Given the description of an element on the screen output the (x, y) to click on. 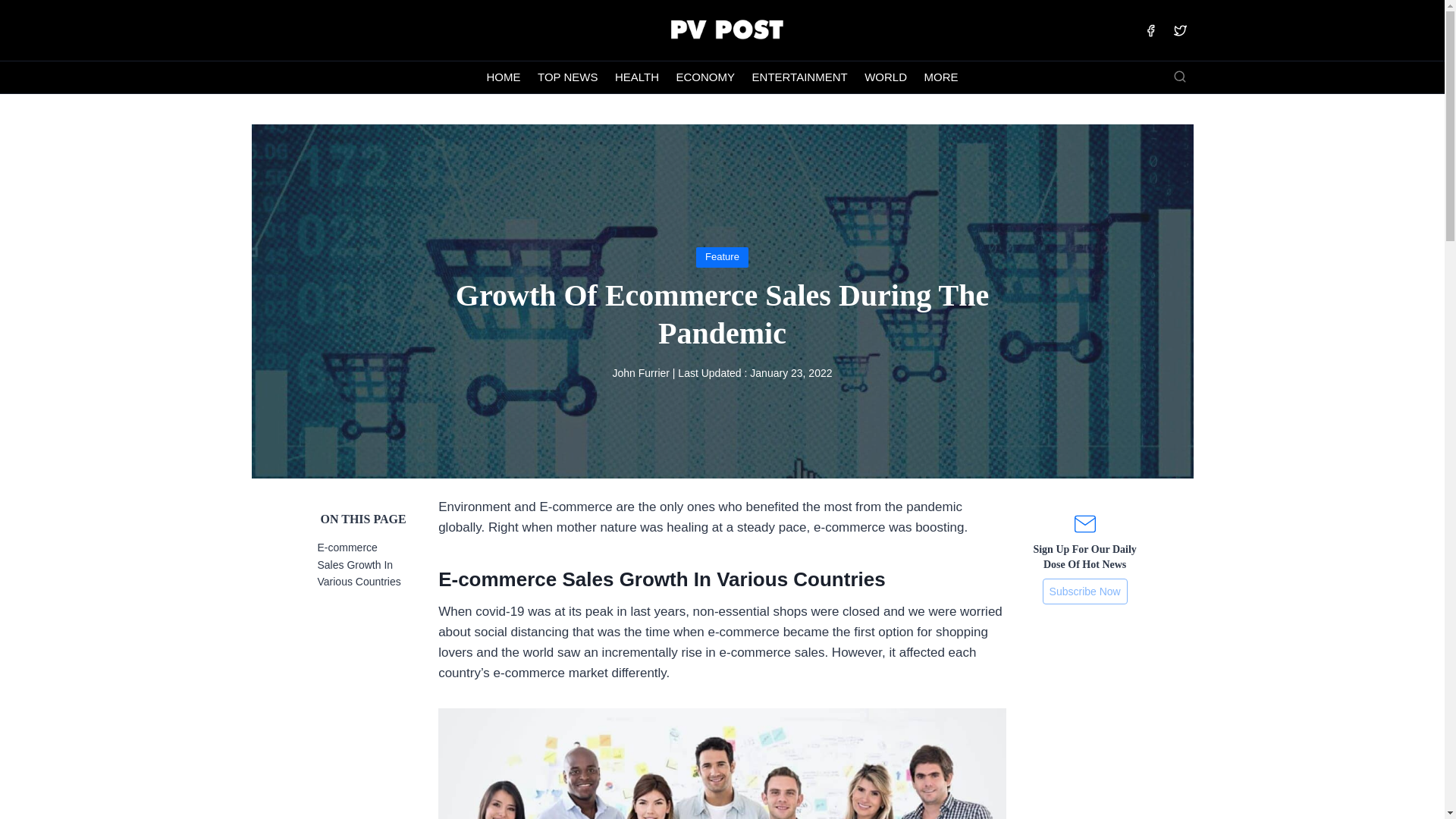
Feature (721, 256)
E-commerce Sales Growth In Various Countries (358, 564)
WORLD (885, 77)
Subscribe Now (1084, 591)
TOP NEWS (568, 77)
MORE (940, 77)
ECONOMY (704, 77)
ENTERTAINMENT (799, 77)
HOME (503, 77)
HEALTH (358, 553)
